Given the description of an element on the screen output the (x, y) to click on. 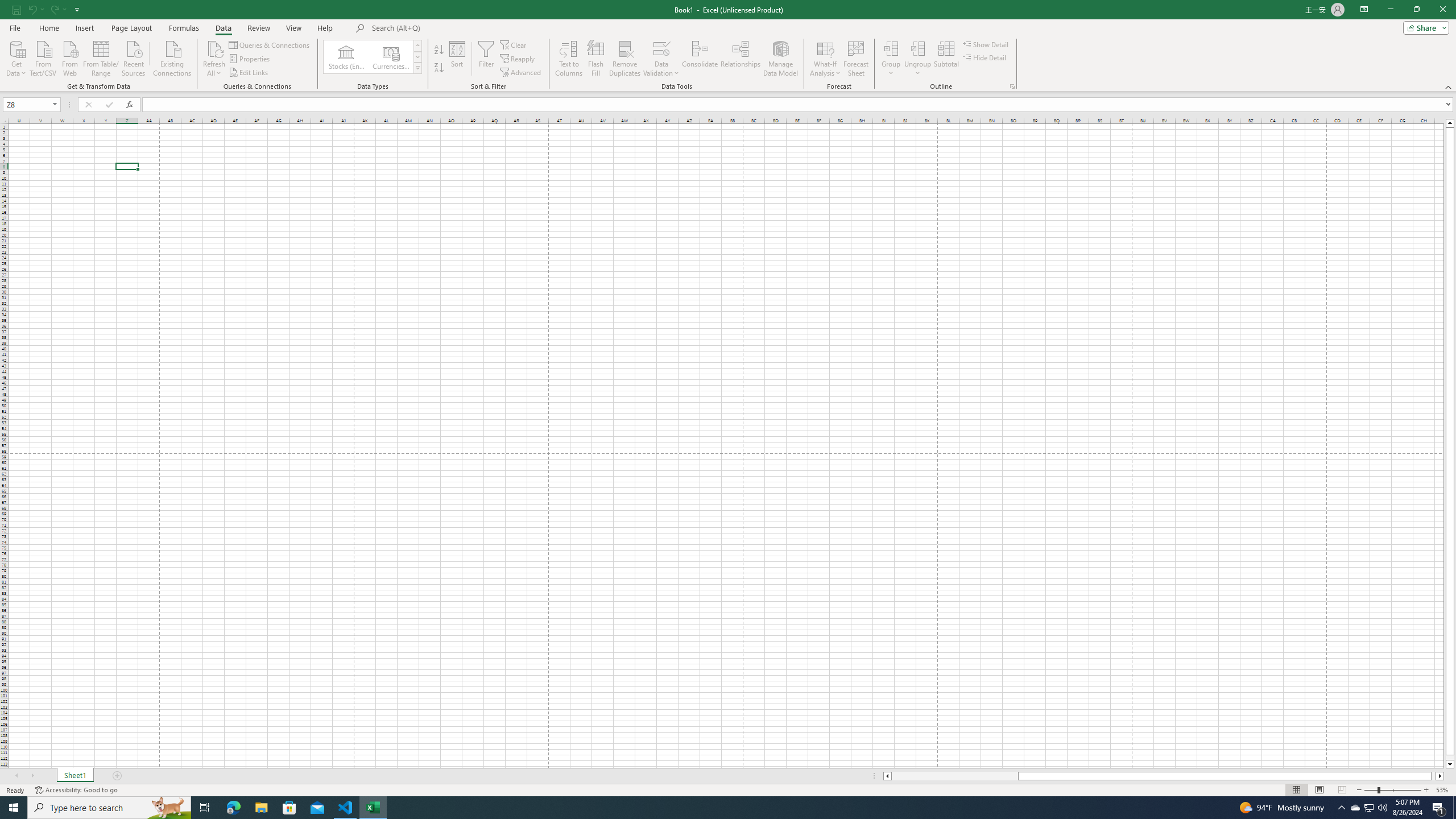
Group and Outline Settings (1011, 85)
Sort... (456, 58)
Show Detail (985, 44)
From Text/CSV (43, 57)
Existing Connections (171, 57)
From Table/Range (100, 57)
